Given the description of an element on the screen output the (x, y) to click on. 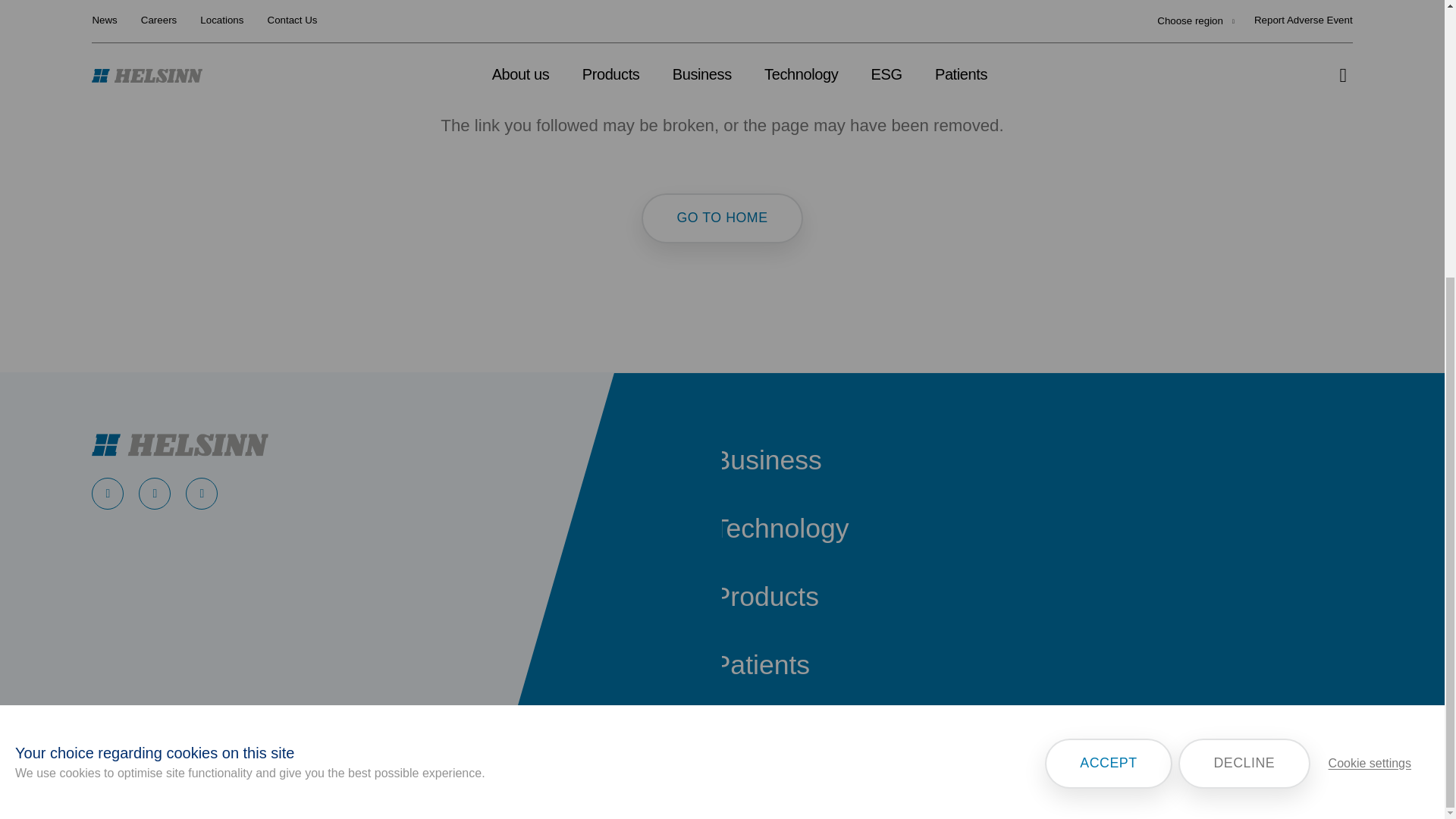
ACCEPT (1108, 463)
